Given the description of an element on the screen output the (x, y) to click on. 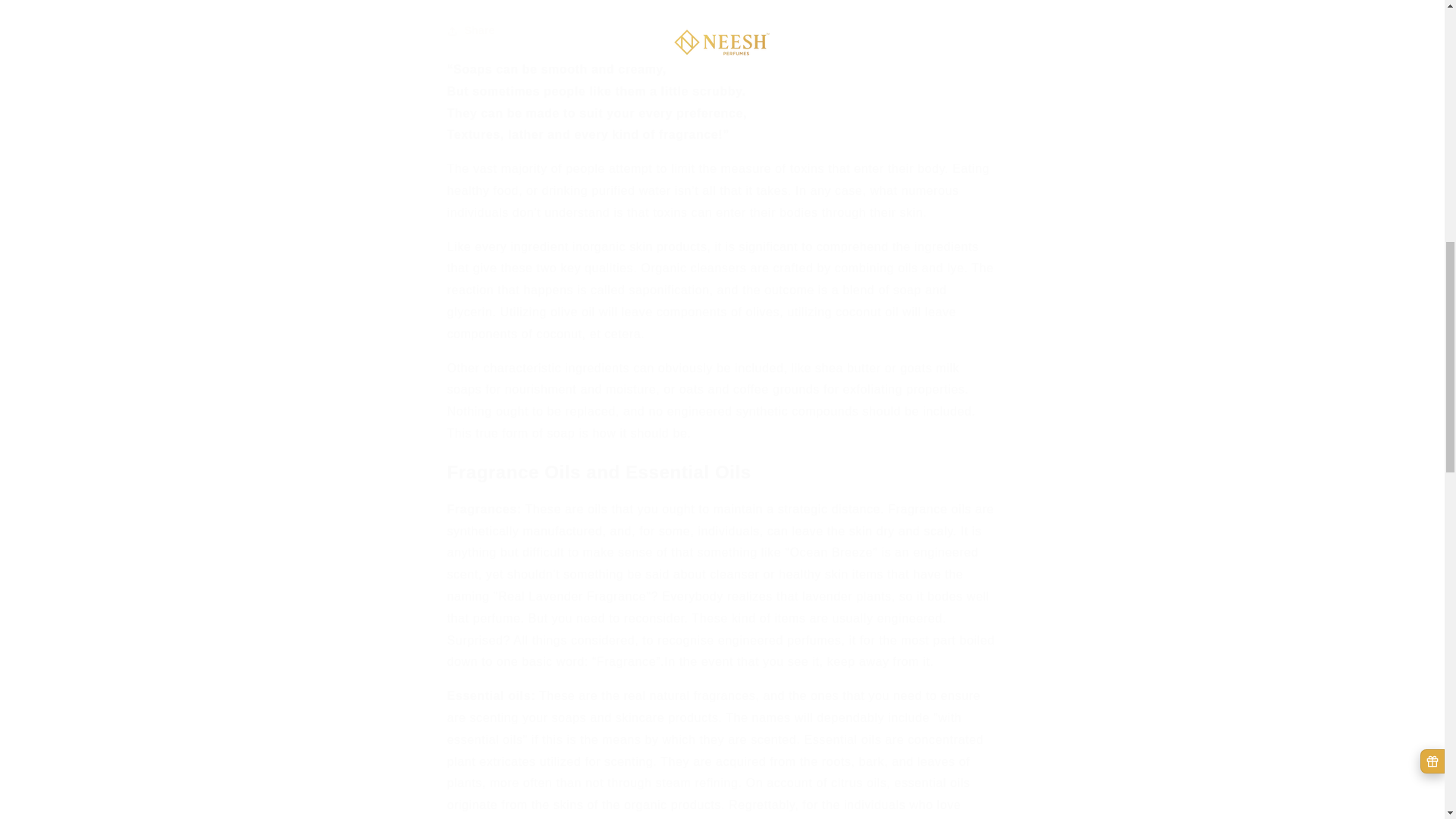
Share (721, 30)
